Given the description of an element on the screen output the (x, y) to click on. 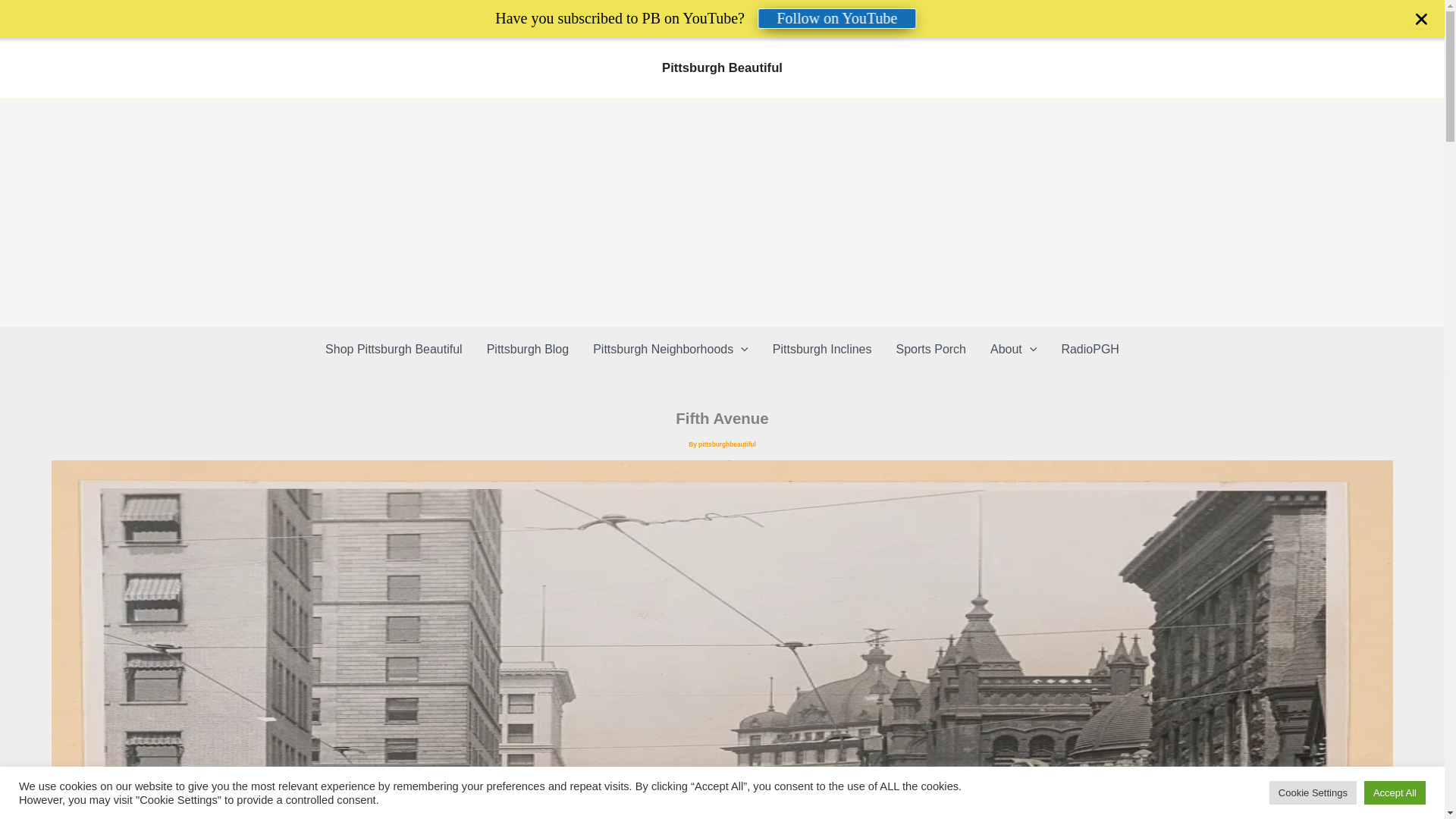
Pittsburgh Blog (527, 349)
RadioPGH (1089, 349)
Pittsburgh Inclines (821, 349)
Pittsburgh Neighborhoods (670, 349)
Shop Pittsburgh Beautiful (393, 349)
View all posts by pittsburghbeautiful (726, 443)
About (1013, 349)
Pittsburgh Beautiful (722, 67)
Sports Porch (930, 349)
